Given the description of an element on the screen output the (x, y) to click on. 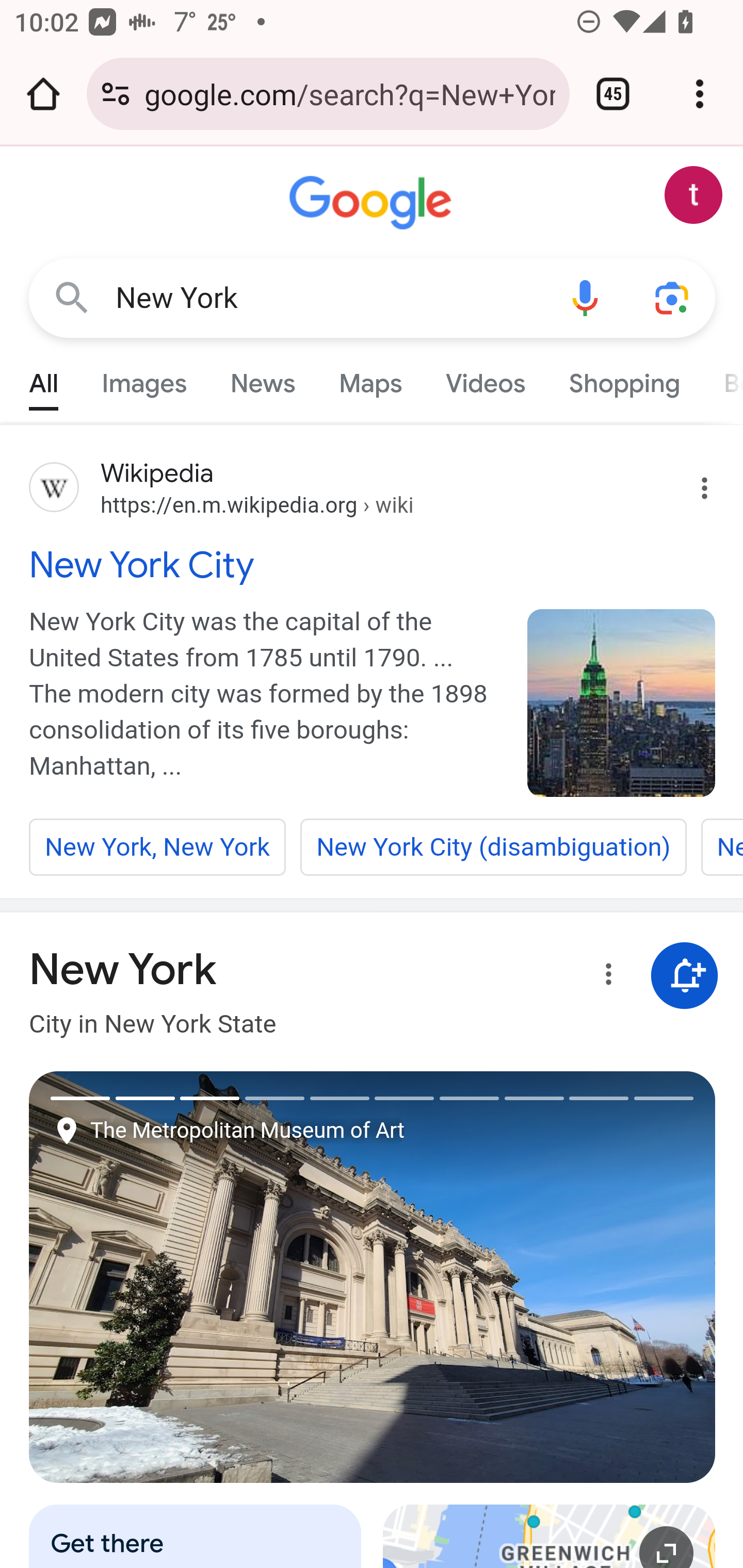
Open the home page (43, 93)
Connection is secure (115, 93)
Switch or close tabs (612, 93)
Customize and control Google Chrome (699, 93)
Google (372, 203)
Google Search (71, 296)
Search using your camera or photos (672, 296)
New York (328, 297)
Images (144, 378)
News (262, 378)
Maps (369, 378)
Videos (485, 378)
Shopping (623, 378)
New York City (372, 564)
New_York_City (621, 703)
New York, New York (157, 847)
New York City (disambiguation) (493, 847)
Get notifications about New York (684, 976)
More options (605, 976)
Previous image (200, 1276)
Next image (544, 1276)
Expand map (549, 1535)
